Given the description of an element on the screen output the (x, y) to click on. 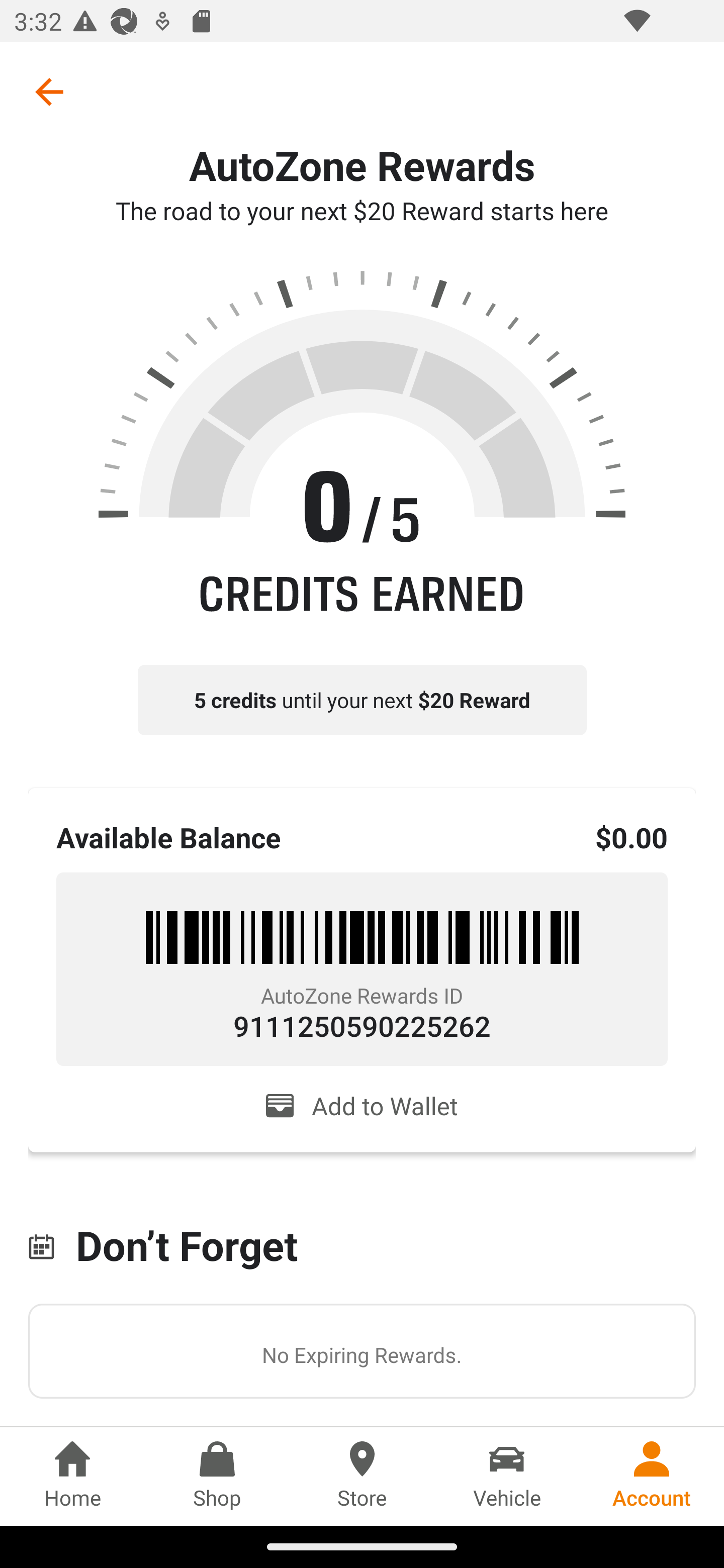
back-button  (49, 91)
Add to Wallet (361, 1105)
Home (72, 1475)
Shop (216, 1475)
Store (361, 1475)
Vehicle (506, 1475)
Account (651, 1475)
